Given the description of an element on the screen output the (x, y) to click on. 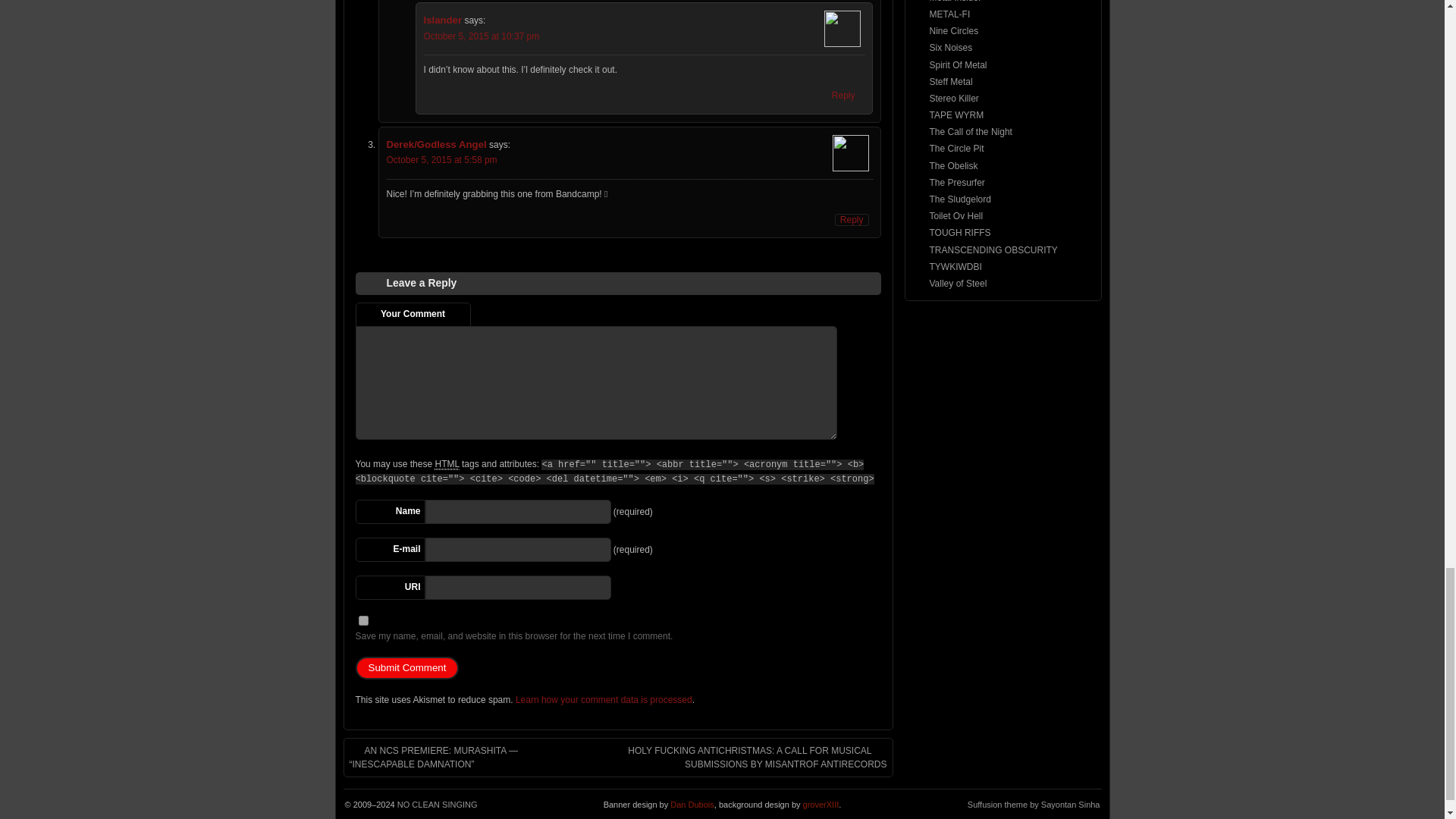
October 5, 2015 at 10:37 pm (480, 36)
HyperText Markup Language (445, 464)
Reply (851, 219)
yes (363, 620)
Learn how your comment data is processed (604, 699)
October 5, 2015 at 5:58 pm (442, 159)
Reply (843, 95)
Islander (442, 19)
Submit Comment (406, 667)
